Given the description of an element on the screen output the (x, y) to click on. 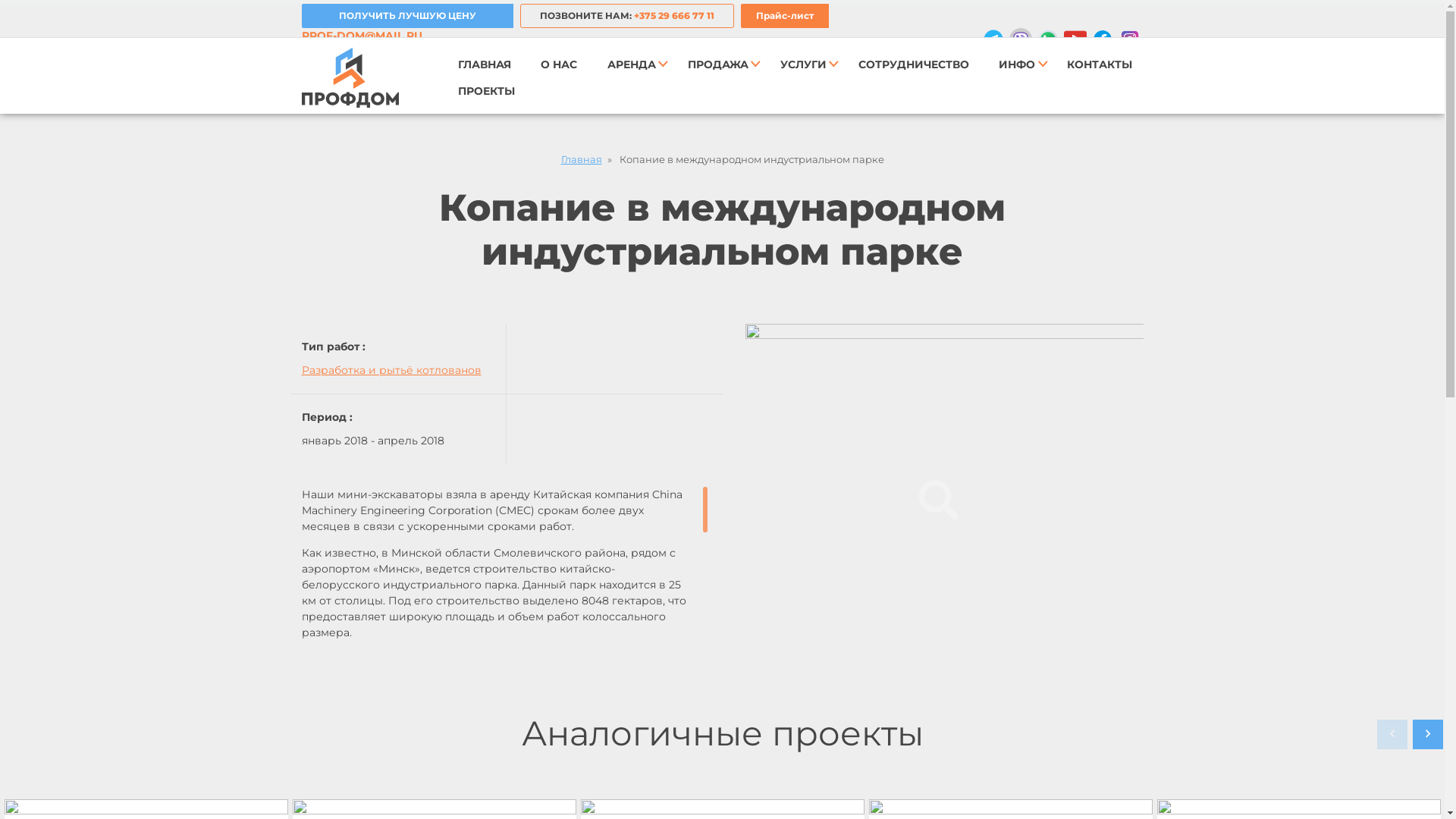
1-6.jpg Element type: hover (938, 498)
+375 29 666 77 11 Element type: text (673, 15)
PROF-DOM@MAIL.RU Element type: text (361, 35)
